Given the description of an element on the screen output the (x, y) to click on. 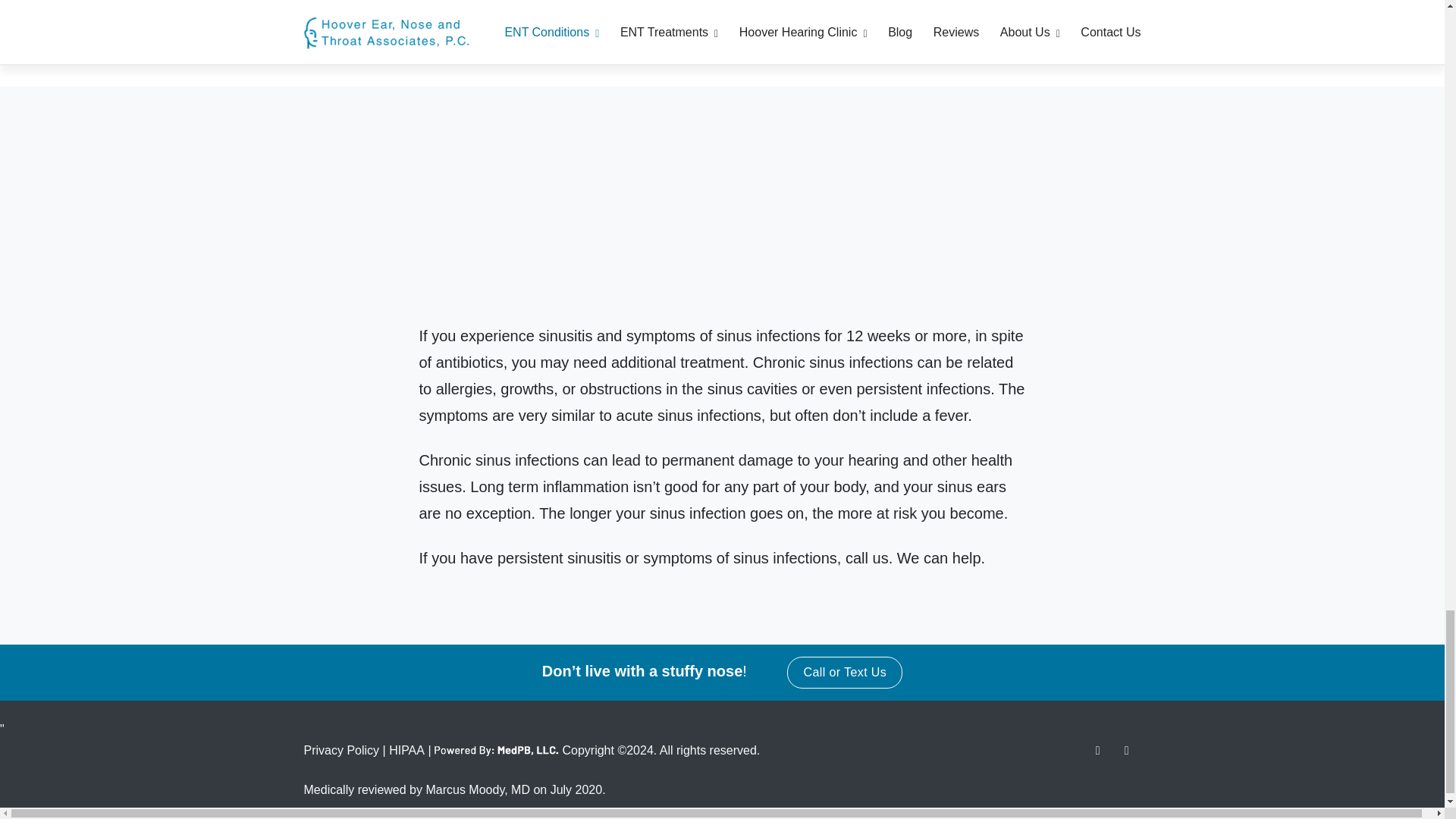
MedPB: Medical Practice Building, Marketing, Websites (496, 750)
